Given the description of an element on the screen output the (x, y) to click on. 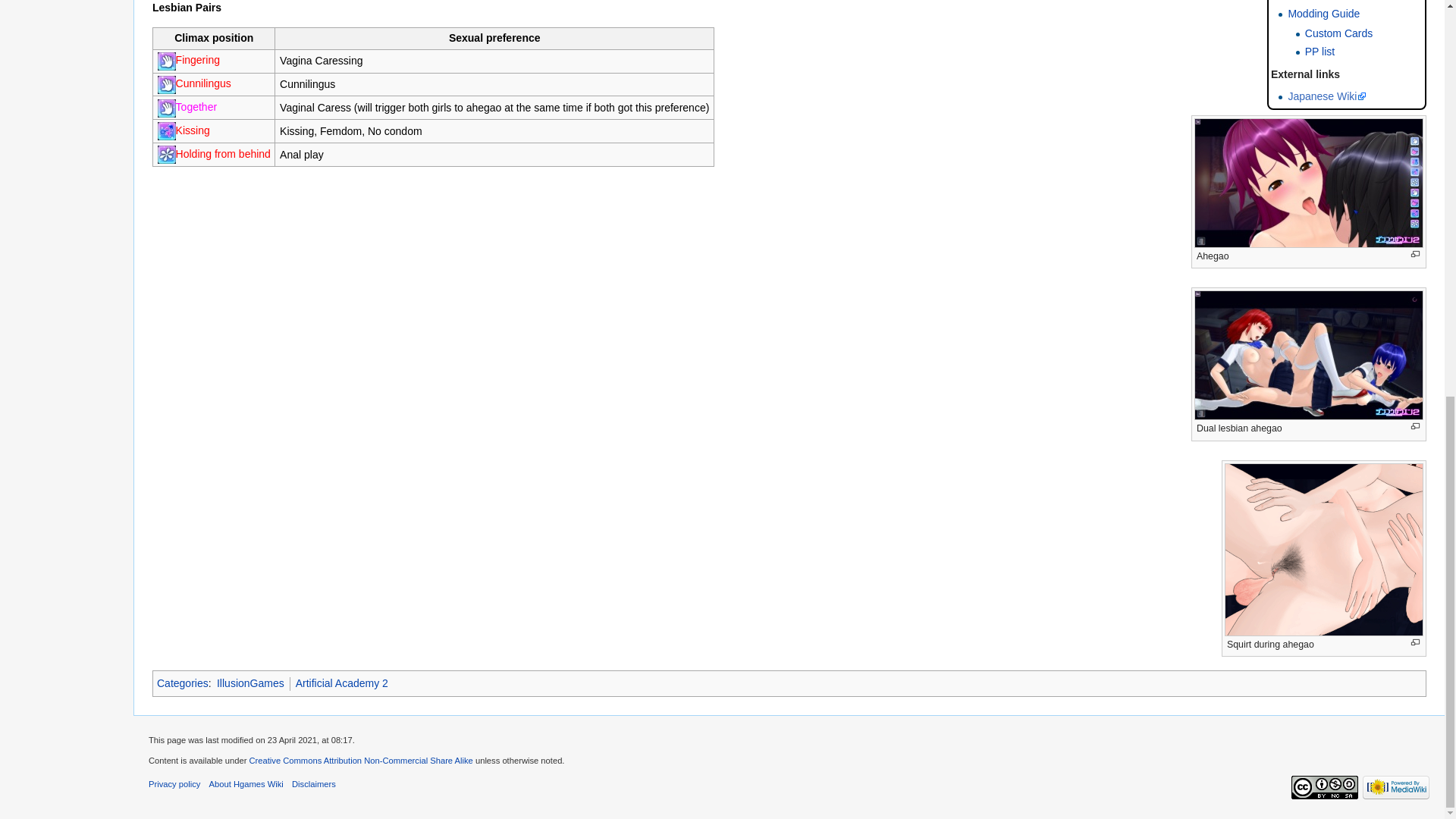
PP list (1319, 51)
Custom Cards (1338, 33)
Japanese Wiki (1327, 96)
Modding Guide (1323, 13)
